Given the description of an element on the screen output the (x, y) to click on. 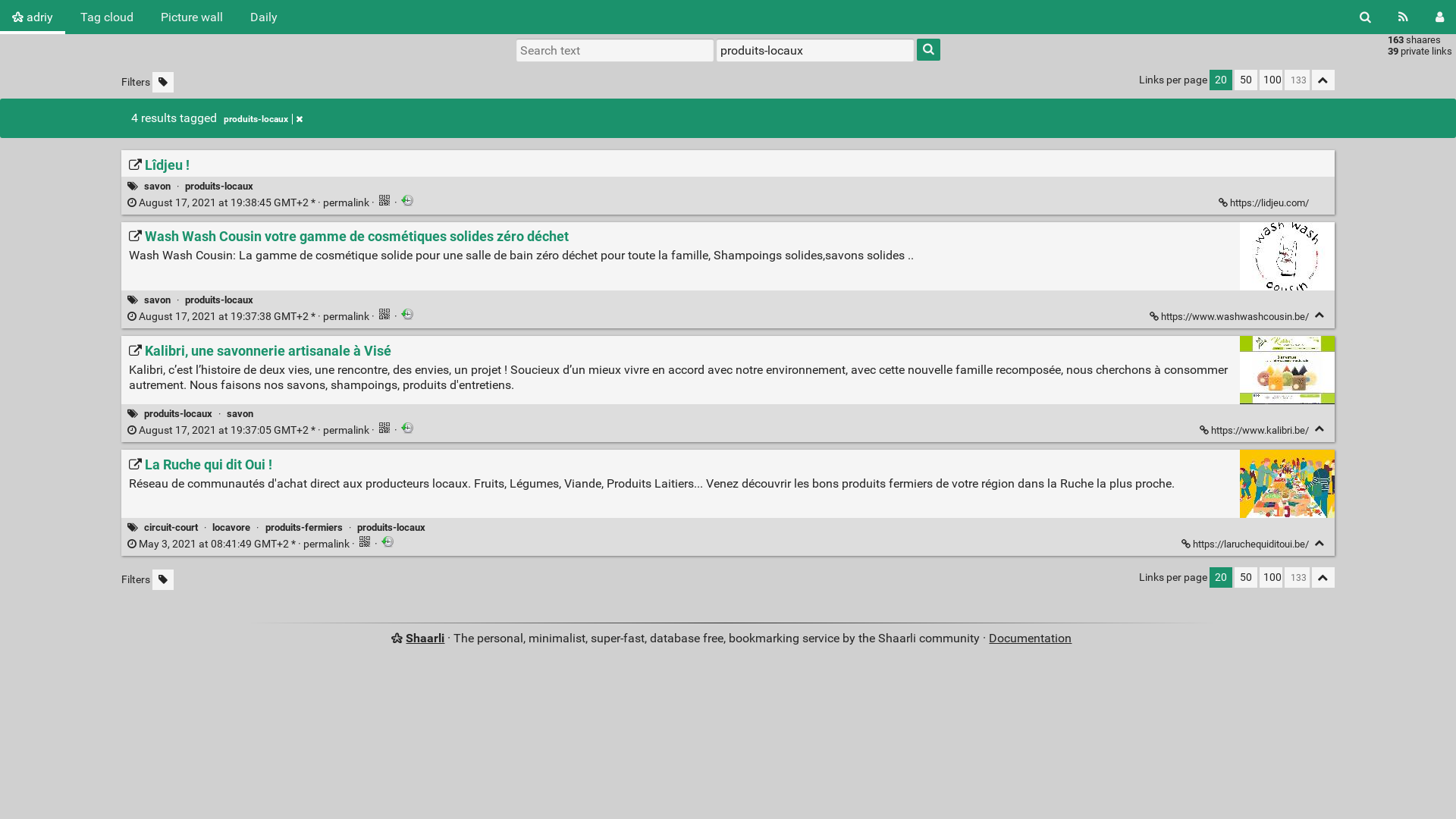
QR-Code Element type: hover (384, 427)
Fold Element type: hover (1319, 428)
100 Element type: text (1270, 79)
savon Element type: text (157, 185)
RSS Feed Element type: hover (1403, 17)
Filter untagged links Element type: hover (162, 579)
Daily Element type: text (263, 17)
adriy Element type: text (32, 17)
Documentation Element type: text (1029, 637)
savon Element type: text (239, 413)
https://www.kalibri.be/ Element type: text (1255, 430)
https://laruchequiditoui.be/ Element type: text (1246, 543)
20 Element type: text (1220, 577)
Tag cloud Element type: text (106, 17)
Fold all Element type: hover (1322, 79)
produits-locaux Element type: text (391, 527)
Search Element type: hover (1365, 17)
QR-Code Element type: hover (384, 200)
Login Element type: text (959, 48)
savon Element type: text (157, 299)
produits-locaux Element type: text (178, 413)
100 Element type: text (1270, 577)
20 Element type: text (1220, 79)
50 Element type: text (1245, 577)
View on archive.org Element type: hover (407, 313)
Shaarli Element type: text (424, 637)
View on archive.org Element type: hover (407, 427)
QR-Code Element type: hover (364, 541)
locavore Element type: text (231, 527)
QR-Code Element type: hover (384, 313)
Fold Element type: hover (1319, 315)
View on archive.org Element type: hover (407, 200)
View on archive.org Element type: hover (387, 541)
Picture wall Element type: text (191, 17)
https://lidjeu.com/ Element type: text (1264, 202)
50 Element type: text (1245, 79)
Filter untagged links Element type: hover (162, 82)
Fold Element type: hover (1319, 543)
produits-locaux Element type: text (219, 185)
La Ruche qui dit Oui ! Element type: text (200, 464)
Fold all Element type: hover (1322, 577)
https://www.washwashcousin.be/ Element type: text (1230, 316)
produits-locaux Element type: text (262, 118)
circuit-court Element type: text (170, 527)
produits-fermiers Element type: text (303, 527)
produits-locaux Element type: text (219, 299)
